Given the description of an element on the screen output the (x, y) to click on. 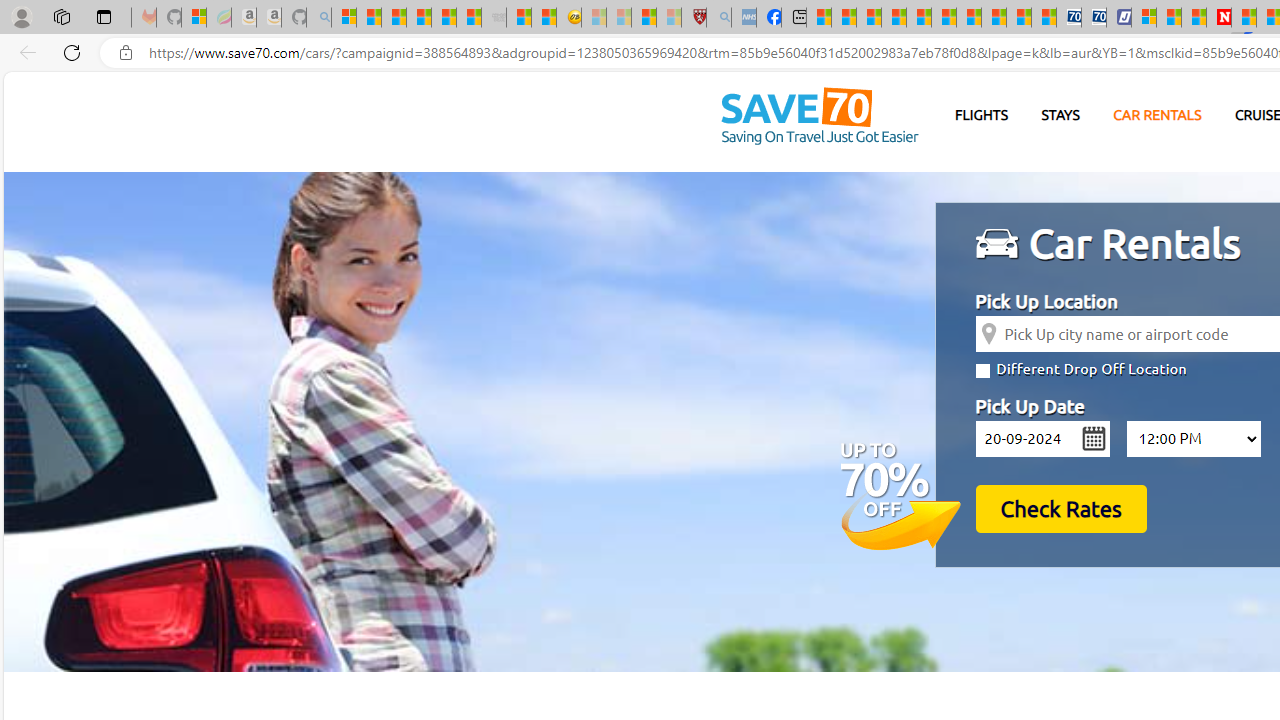
Cheap Hotels - Save70.com (1093, 17)
Recipes - MSN - Sleeping (593, 17)
Climate Damage Becomes Too Severe To Reverse (893, 17)
Microsoft account | Privacy (1143, 17)
Class: select-pickup-time select_box (1193, 438)
NCL Adult Asthma Inhaler Choice Guideline - Sleeping (744, 17)
FLIGHTS (981, 115)
list of asthma inhalers uk - Search - Sleeping (718, 17)
World - MSN (868, 17)
Tab actions menu (104, 16)
MSNBC - MSN (818, 17)
